Given the description of an element on the screen output the (x, y) to click on. 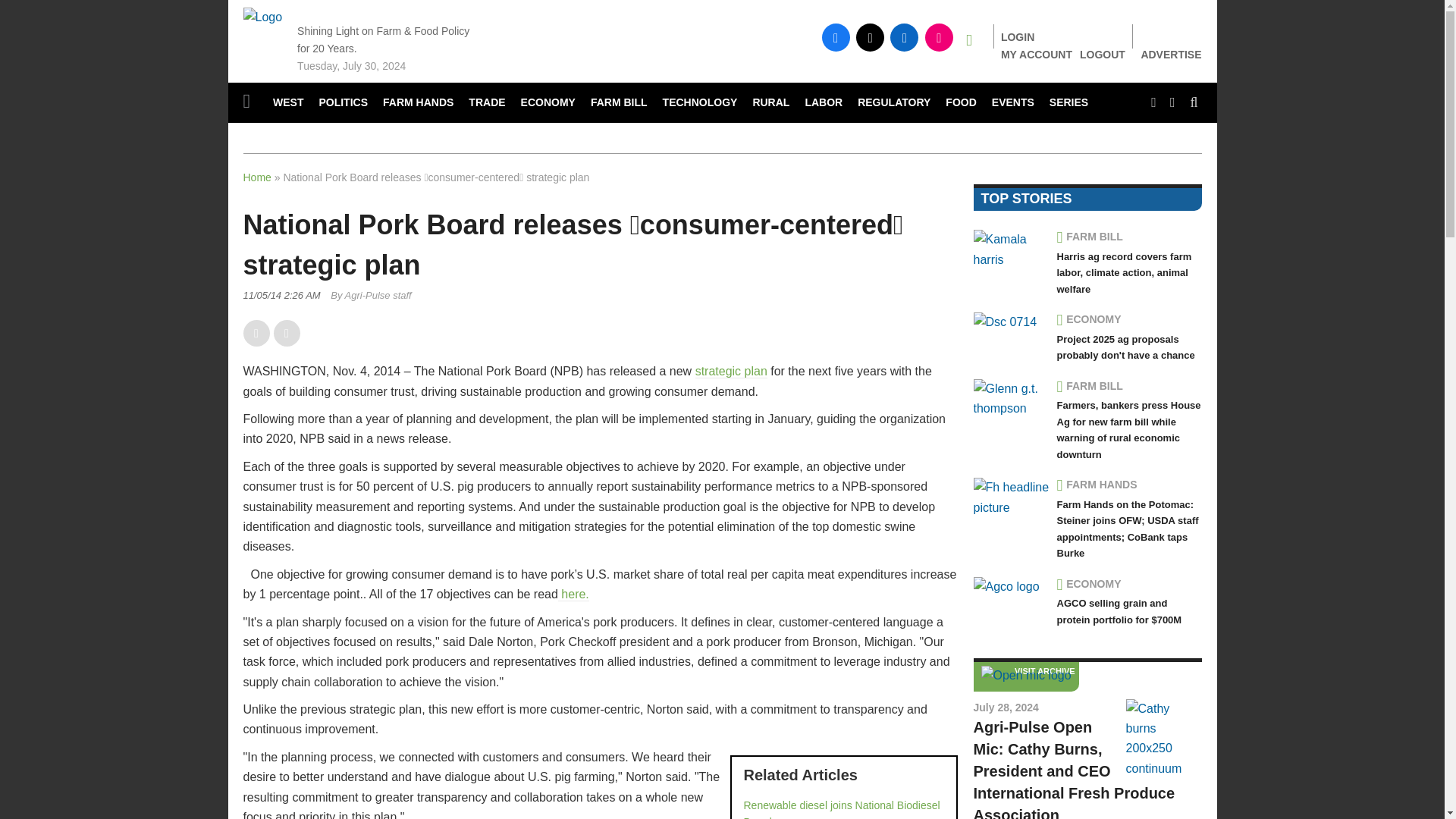
WEST (287, 102)
TRADE (486, 102)
FOOD (960, 102)
LABOR (823, 102)
RURAL (770, 102)
POLITICS (343, 102)
LOGIN (1017, 37)
MY ACCOUNT (1036, 54)
REGULATORY (893, 102)
TECHNOLOGY (700, 102)
FARM HANDS (418, 102)
LOGOUT (1102, 54)
ECONOMY (548, 102)
FARM BILL (619, 102)
ADVERTISE (1170, 54)
